Given the description of an element on the screen output the (x, y) to click on. 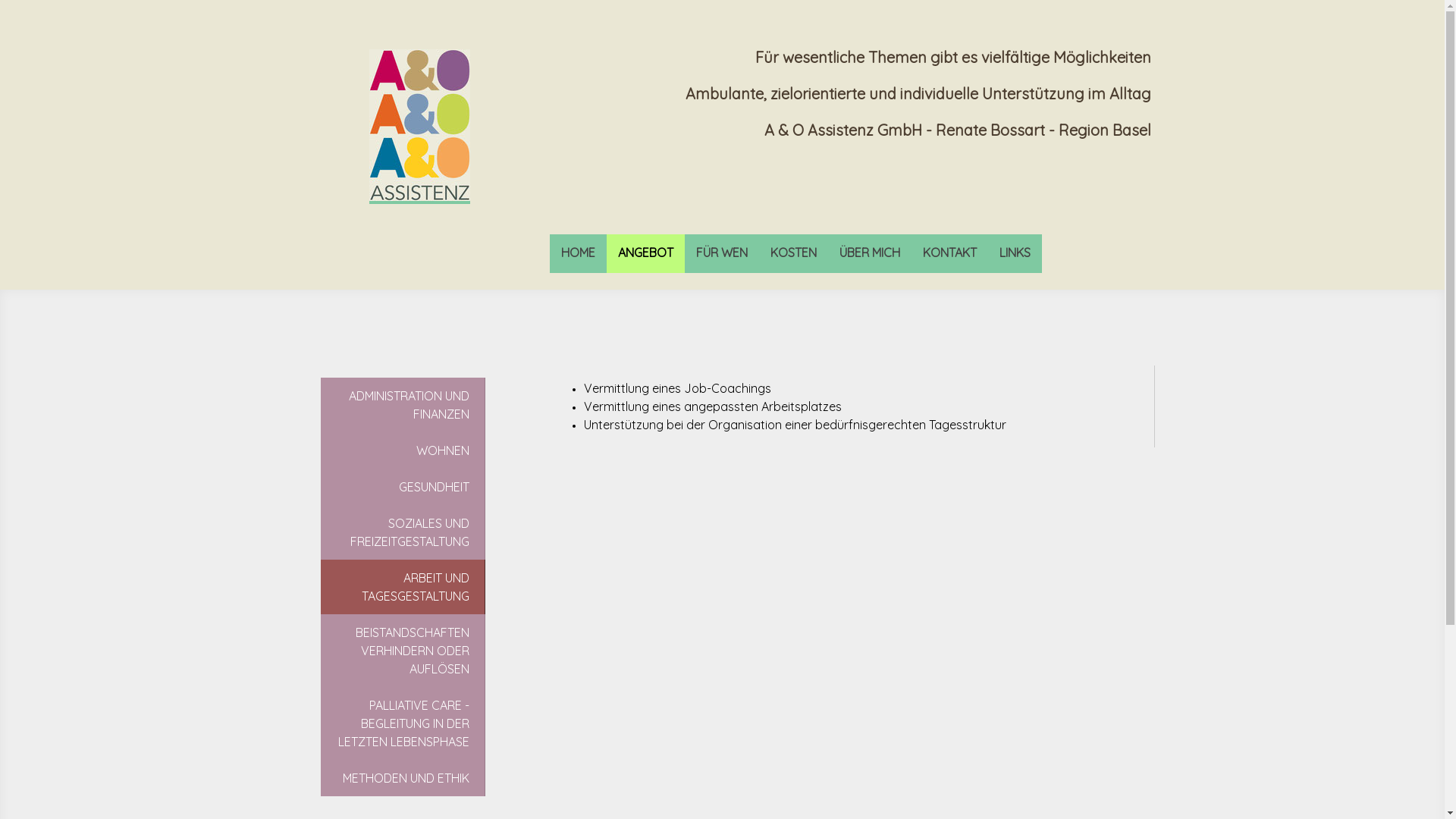
HOME Element type: text (577, 253)
SOZIALES UND FREIZEITGESTALTUNG Element type: text (402, 532)
ADMINISTRATION UND FINANZEN Element type: text (402, 404)
PALLIATIVE CARE - BEGLEITUNG IN DER LETZTEN LEBENSPHASE Element type: text (402, 723)
ARBEIT UND TAGESGESTALTUNG Element type: text (402, 586)
KONTAKT Element type: text (949, 253)
KOSTEN Element type: text (792, 253)
LINKS Element type: text (1014, 253)
GESUNDHEIT Element type: text (402, 486)
WOHNEN Element type: text (402, 450)
ANGEBOT Element type: text (645, 253)
METHODEN UND ETHIK Element type: text (402, 777)
